Given the description of an element on the screen output the (x, y) to click on. 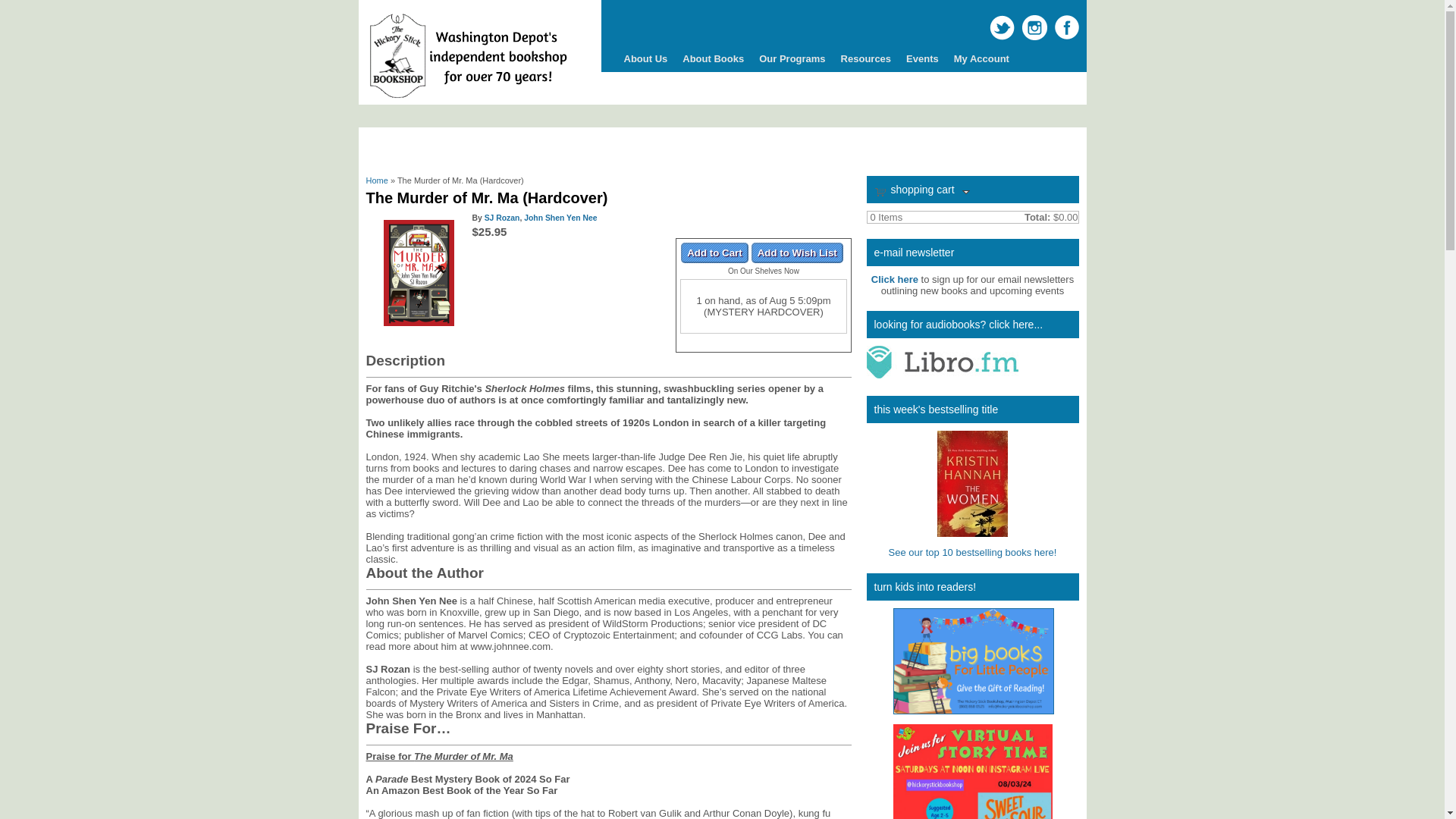
Home (467, 98)
Add to Wish List (797, 252)
About Us (645, 58)
My Account (981, 58)
About Books (713, 58)
Resources (865, 58)
Events (922, 58)
Add to Cart (714, 252)
Our Programs (791, 58)
